Given the description of an element on the screen output the (x, y) to click on. 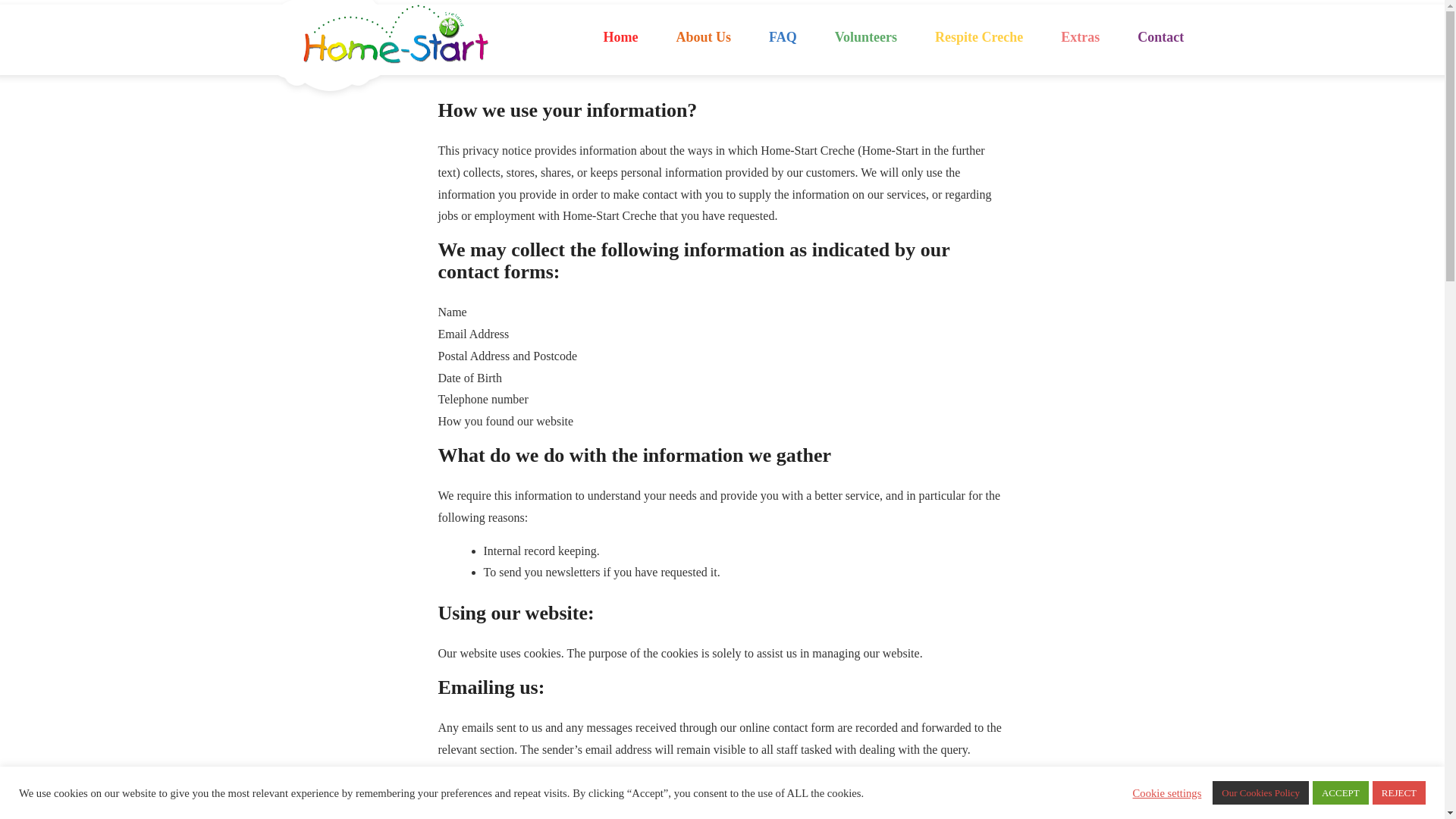
Extras (1079, 37)
Home (620, 37)
Respite Creche (979, 37)
Contact (1160, 37)
Volunteers (865, 37)
About Us (703, 37)
